Given the description of an element on the screen output the (x, y) to click on. 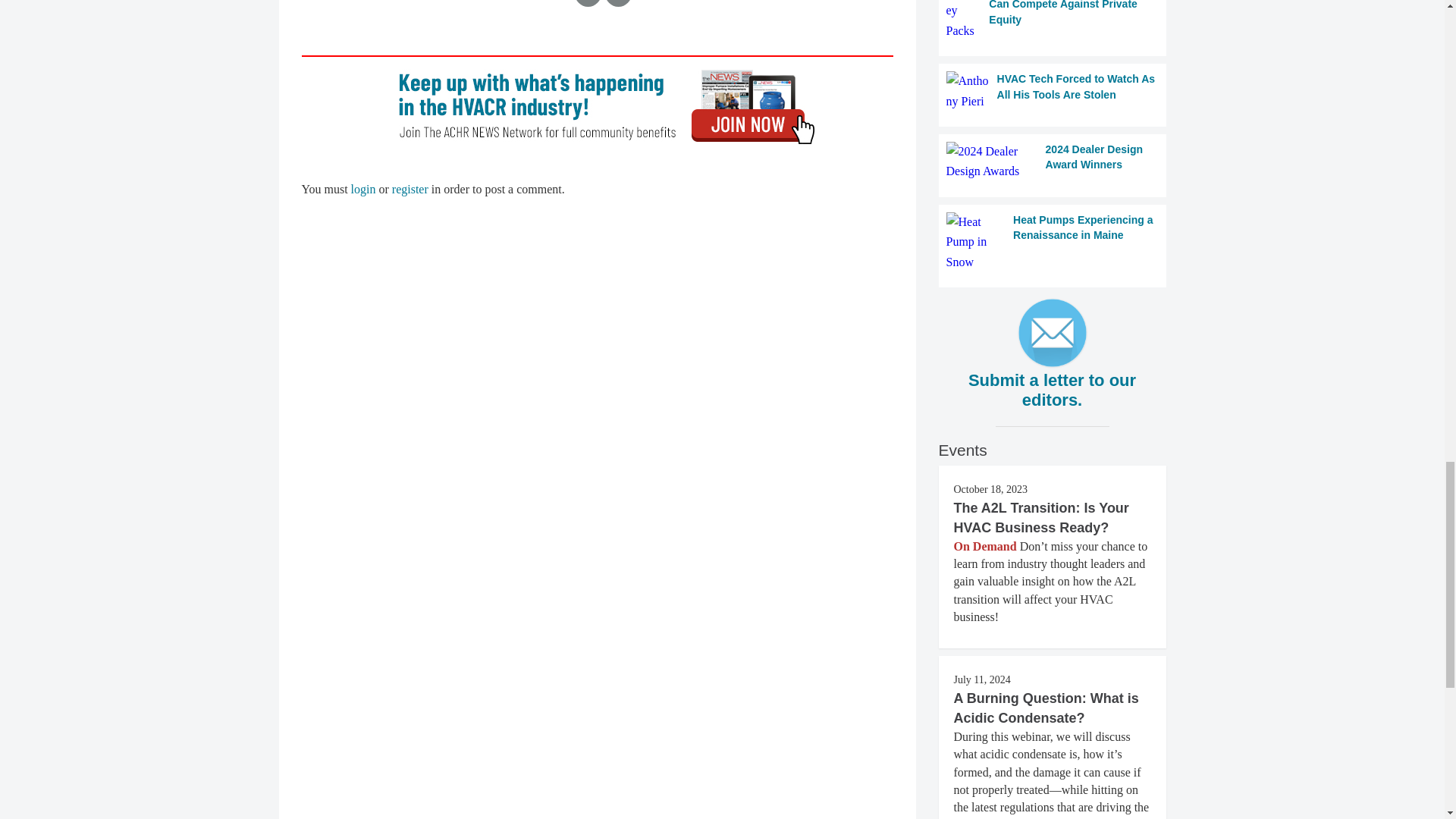
Heat Pumps Experiencing a Renaissance in Maine (1052, 241)
A Burning Question: What is Acidic Condensate? (1045, 708)
The A2L Transition: Is Your HVAC Business Ready? (1041, 517)
2024 Dealer Design Award Winners (1052, 161)
HVAC Tech Forced to Watch As All His Tools Are Stolen (1052, 91)
